Given the description of an element on the screen output the (x, y) to click on. 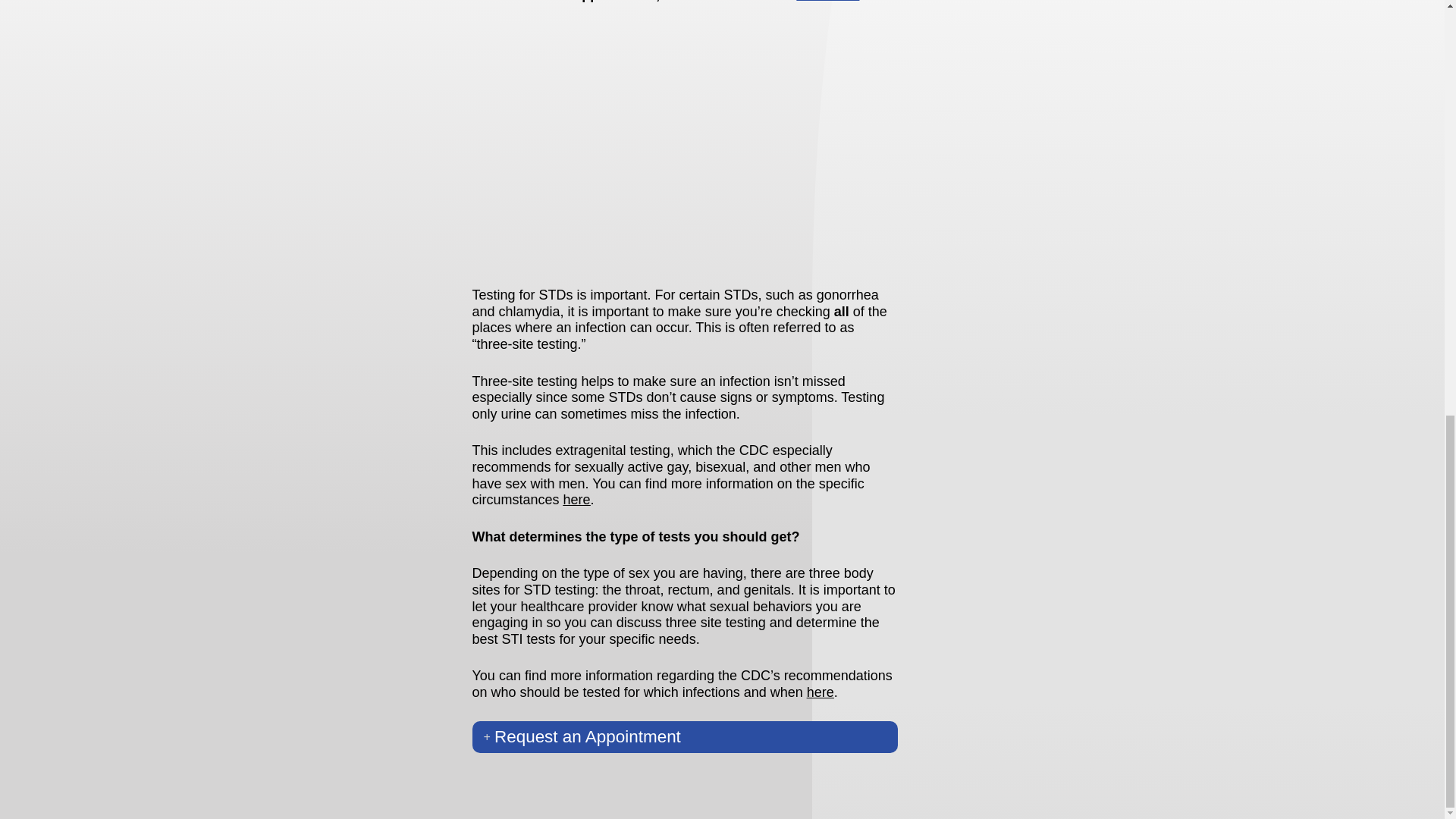
YouTube video player (683, 143)
